Given the description of an element on the screen output the (x, y) to click on. 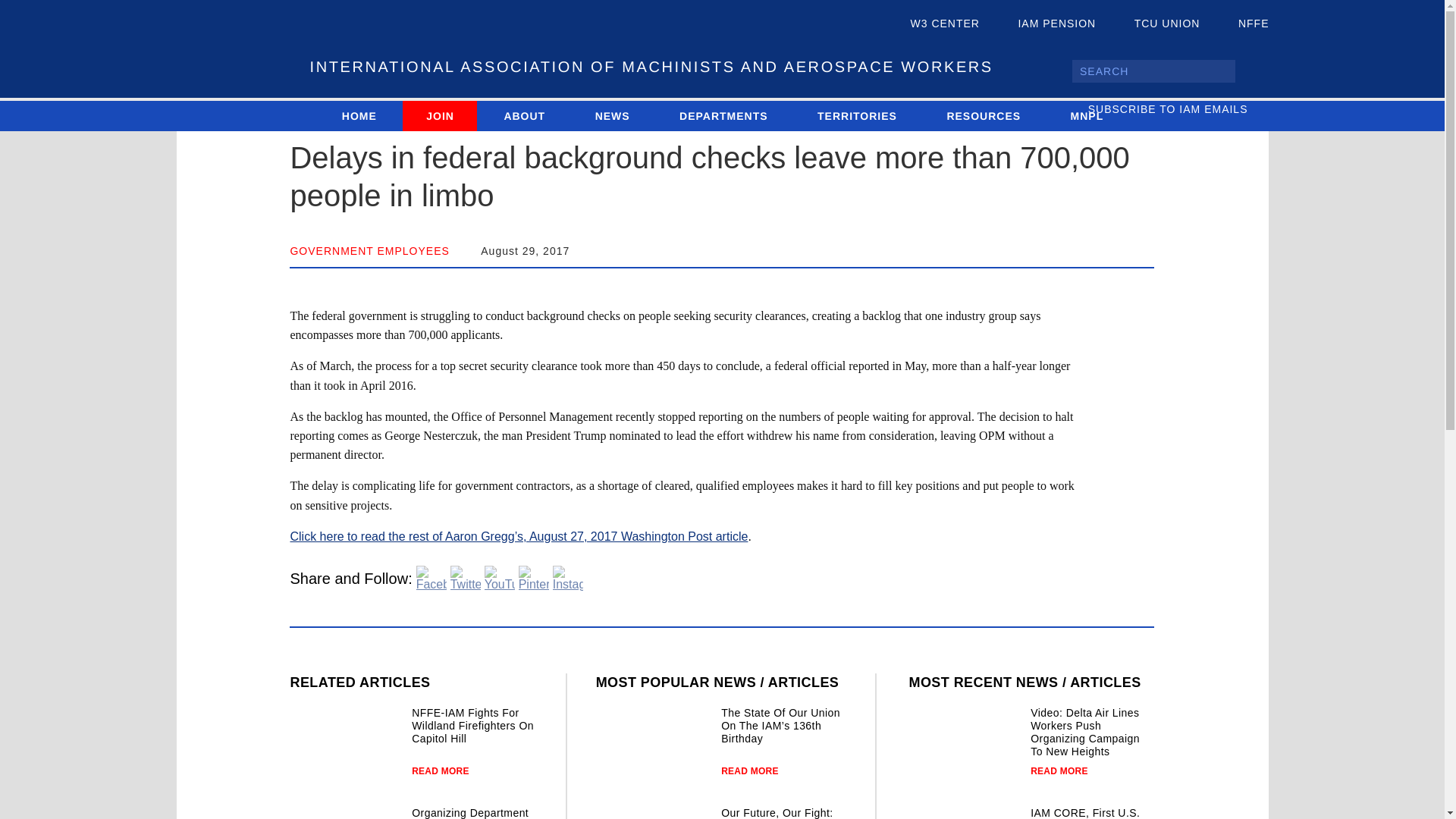
TERRITORIES (856, 115)
IAM PENSION (1043, 24)
NFFE (1240, 24)
Facebook (431, 578)
There is a 4 character minimum for any search. (1152, 70)
NEWS (612, 115)
ABOUT (523, 115)
Pinterest (533, 578)
TCU UNION (1153, 24)
DEPARTMENTS (723, 115)
MNPL (1086, 115)
RESOURCES (983, 115)
JOIN (440, 115)
HOME (358, 115)
W3 CENTER (932, 24)
